Given the description of an element on the screen output the (x, y) to click on. 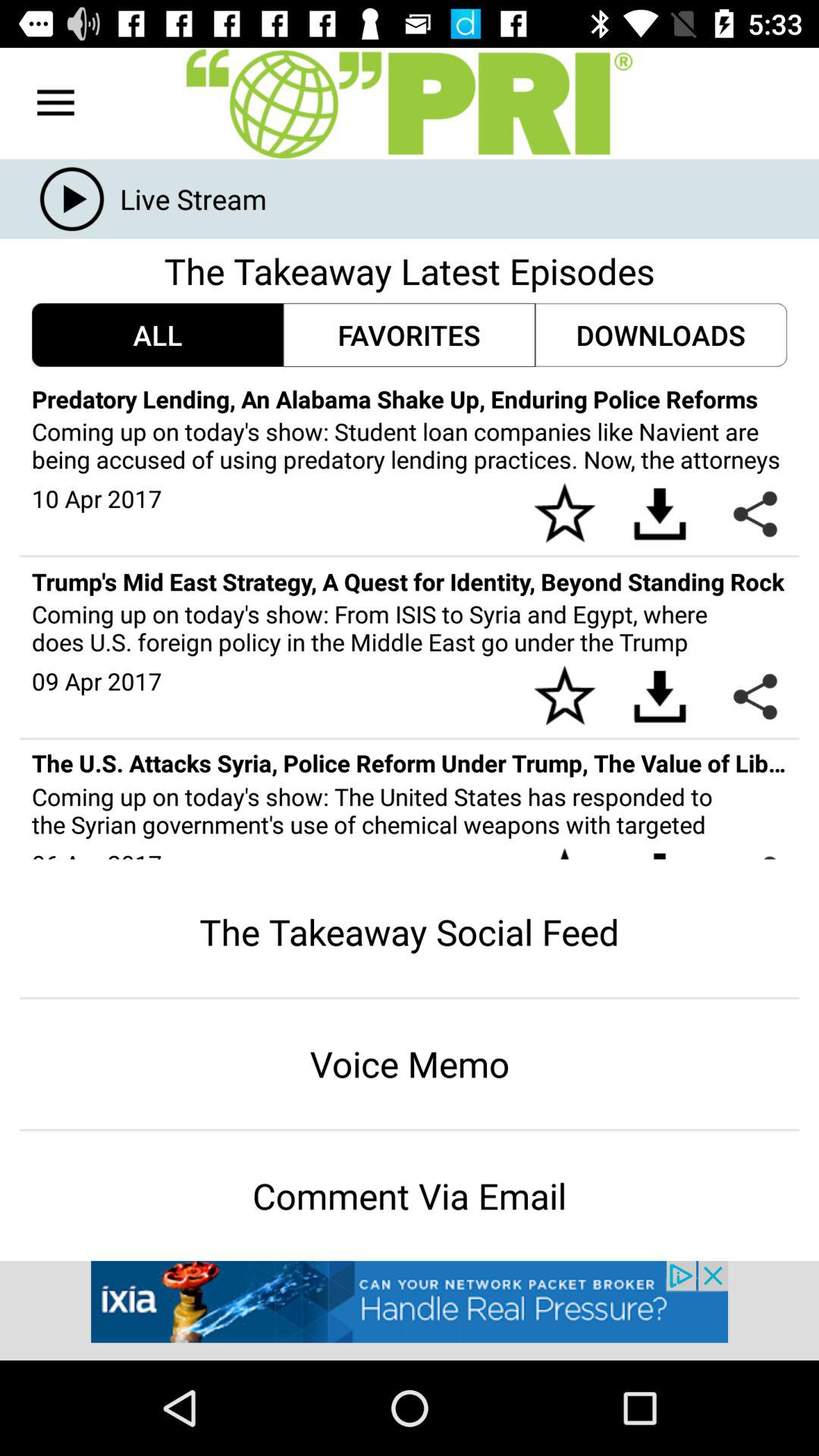
title of website (409, 103)
